Given the description of an element on the screen output the (x, y) to click on. 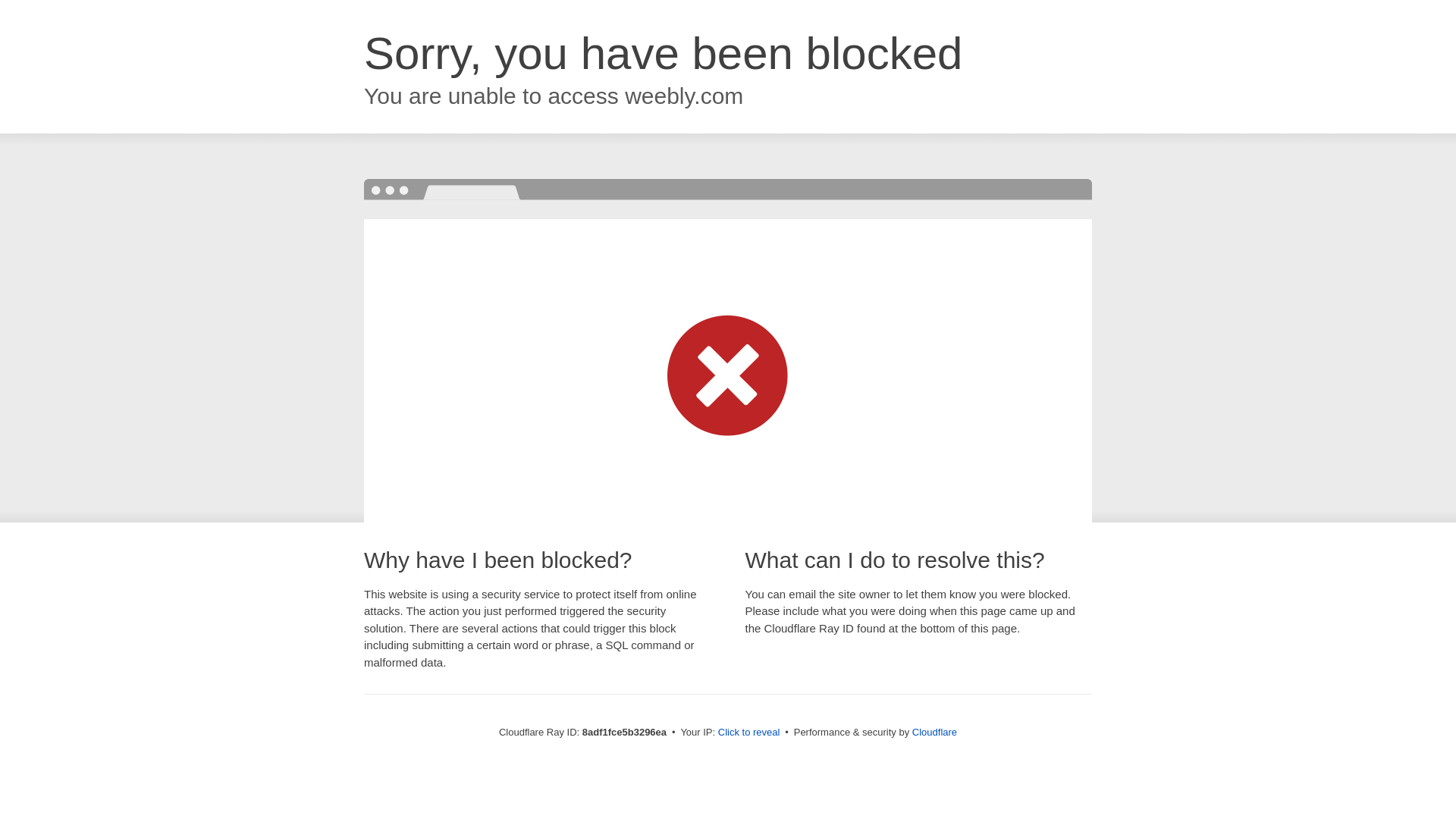
Click to reveal (748, 732)
Cloudflare (934, 731)
